Given the description of an element on the screen output the (x, y) to click on. 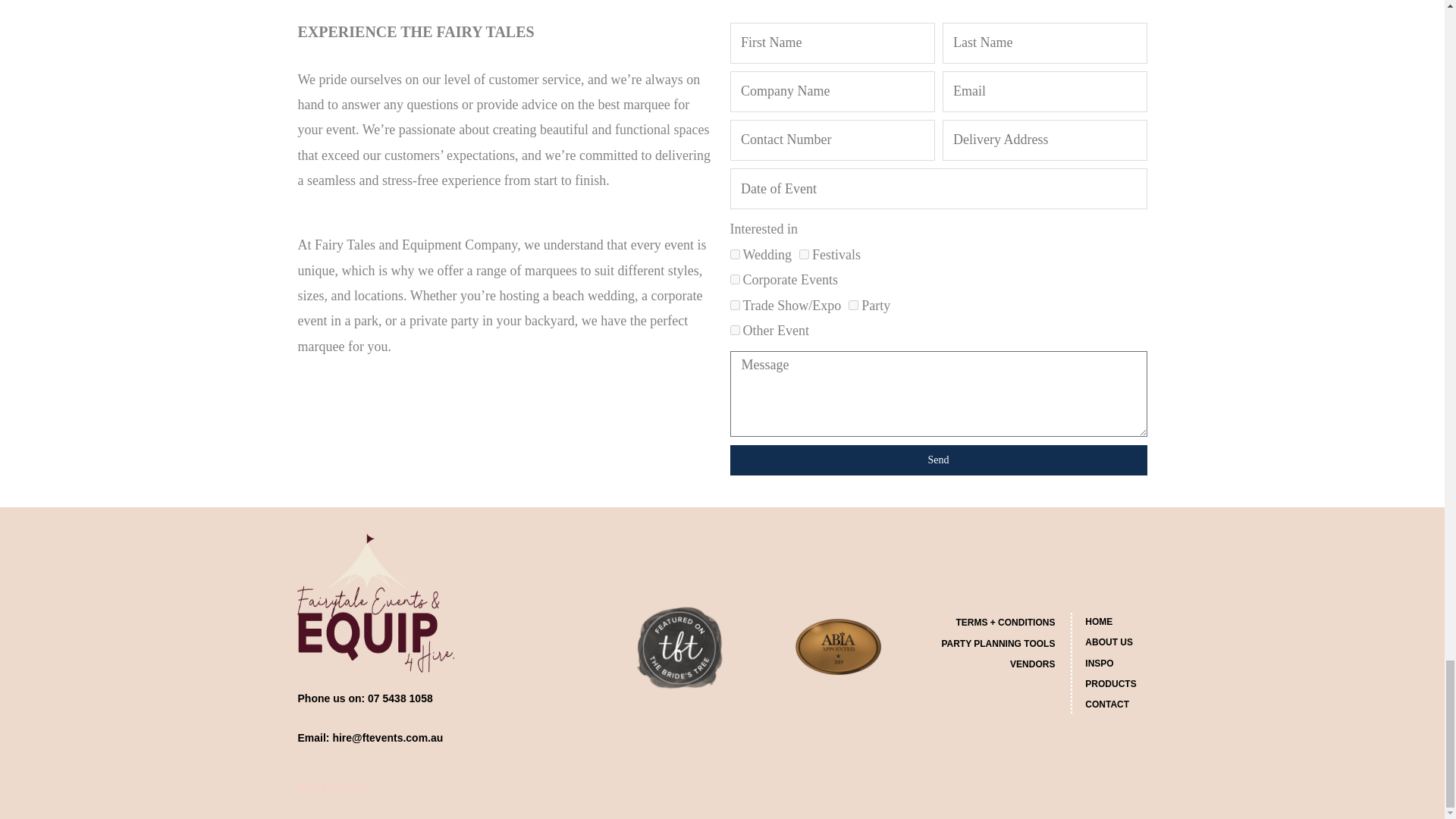
07 5438 1058 (400, 698)
MADE BY CARLY CO (334, 786)
Send (938, 460)
VENDORS (990, 664)
PARTY PLANNING TOOLS (990, 643)
